Given the description of an element on the screen output the (x, y) to click on. 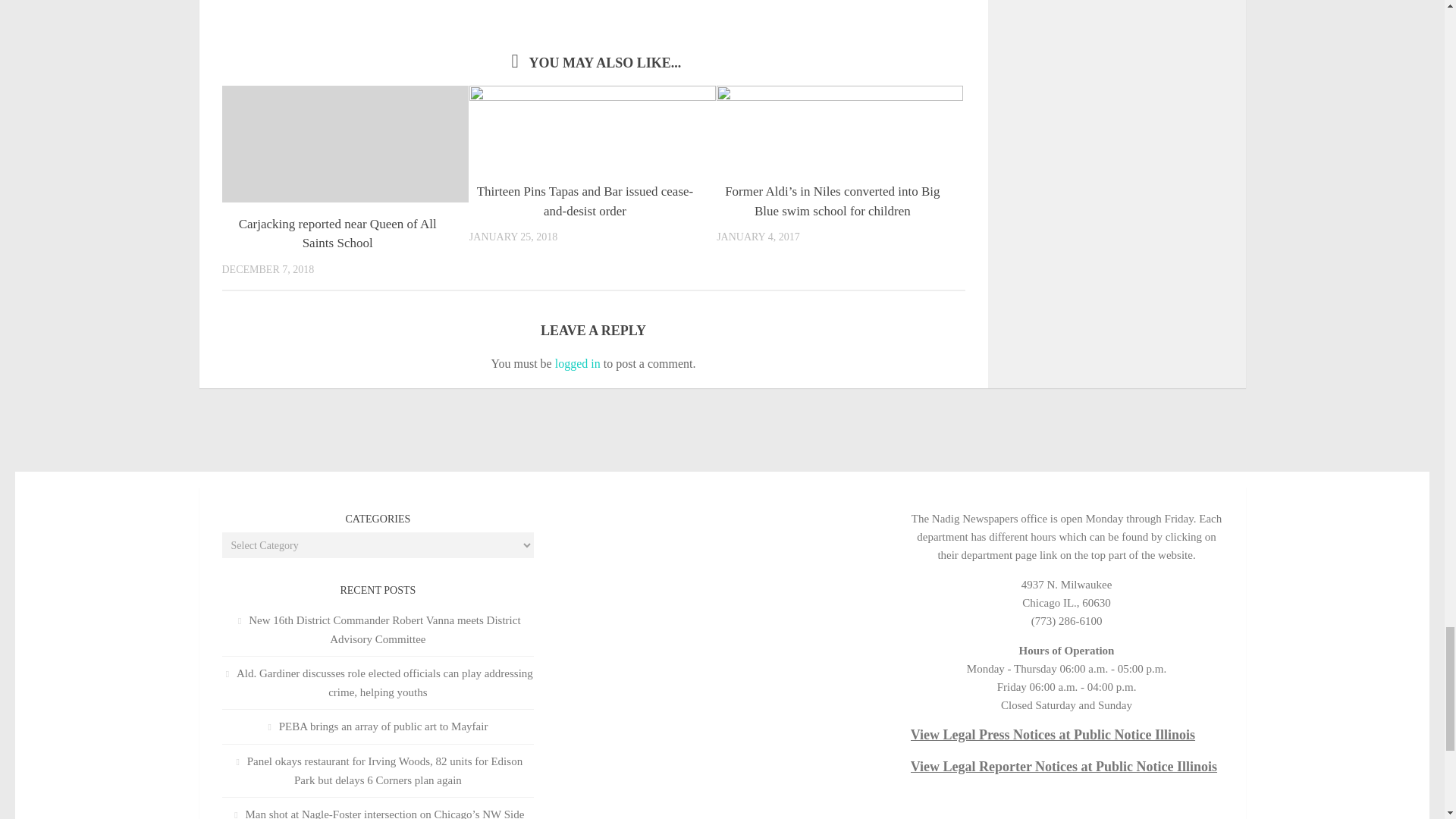
Thirteen Pins Tapas and Bar issued cease-and-desist order (585, 201)
Carjacking reported near Queen of All Saints School (337, 233)
logged in (576, 363)
